Given the description of an element on the screen output the (x, y) to click on. 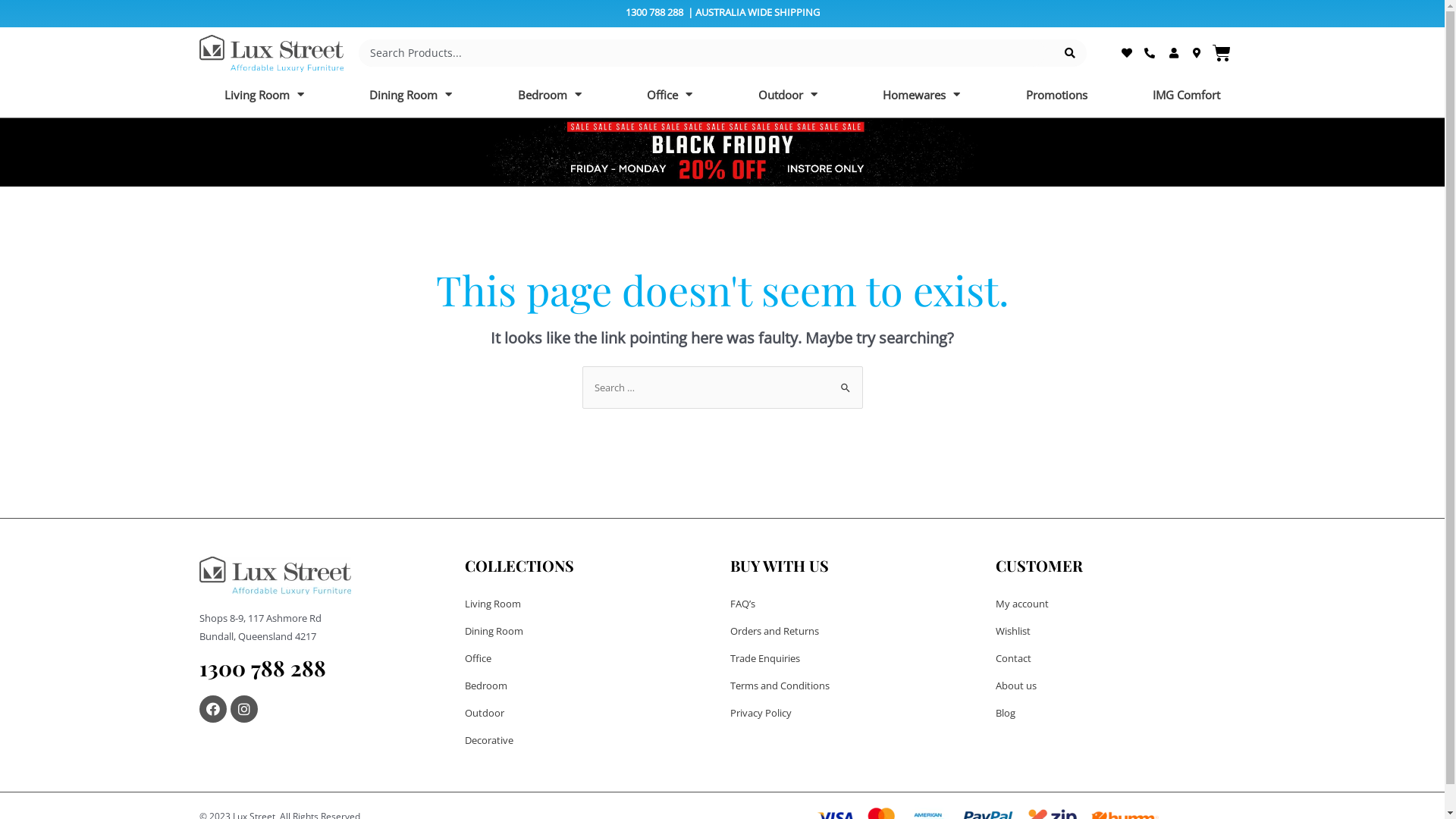
Dining Room Element type: text (410, 94)
Privacy Policy Element type: text (854, 712)
Homewares Element type: text (921, 94)
Search Element type: text (845, 380)
LUX LOGO BLUE TAGLINE 640x Element type: hover (274, 575)
My account Element type: text (1119, 603)
Office Element type: text (589, 657)
Outdoor Element type: text (589, 712)
1300 788 288 Element type: text (261, 667)
Facebook Element type: text (211, 708)
Promotions Element type: text (1056, 94)
Blog Element type: text (1119, 712)
Cart Element type: text (1221, 52)
Outdoor Element type: text (787, 94)
About us Element type: text (1119, 685)
Instagram Element type: text (243, 708)
Decorative Element type: text (589, 739)
Terms and Conditions Element type: text (854, 685)
1300 788 288 Element type: text (653, 11)
Wishlist Element type: text (1119, 630)
Trade Enquiries Element type: text (854, 657)
Bedroom Element type: text (550, 94)
IMG Comfort Element type: text (1186, 94)
Living Room Element type: text (263, 94)
Bedroom Element type: text (589, 685)
Office Element type: text (669, 94)
Living Room Element type: text (589, 603)
Dining Room Element type: text (589, 630)
Orders and Returns Element type: text (854, 630)
Contact Element type: text (1119, 657)
